Given the description of an element on the screen output the (x, y) to click on. 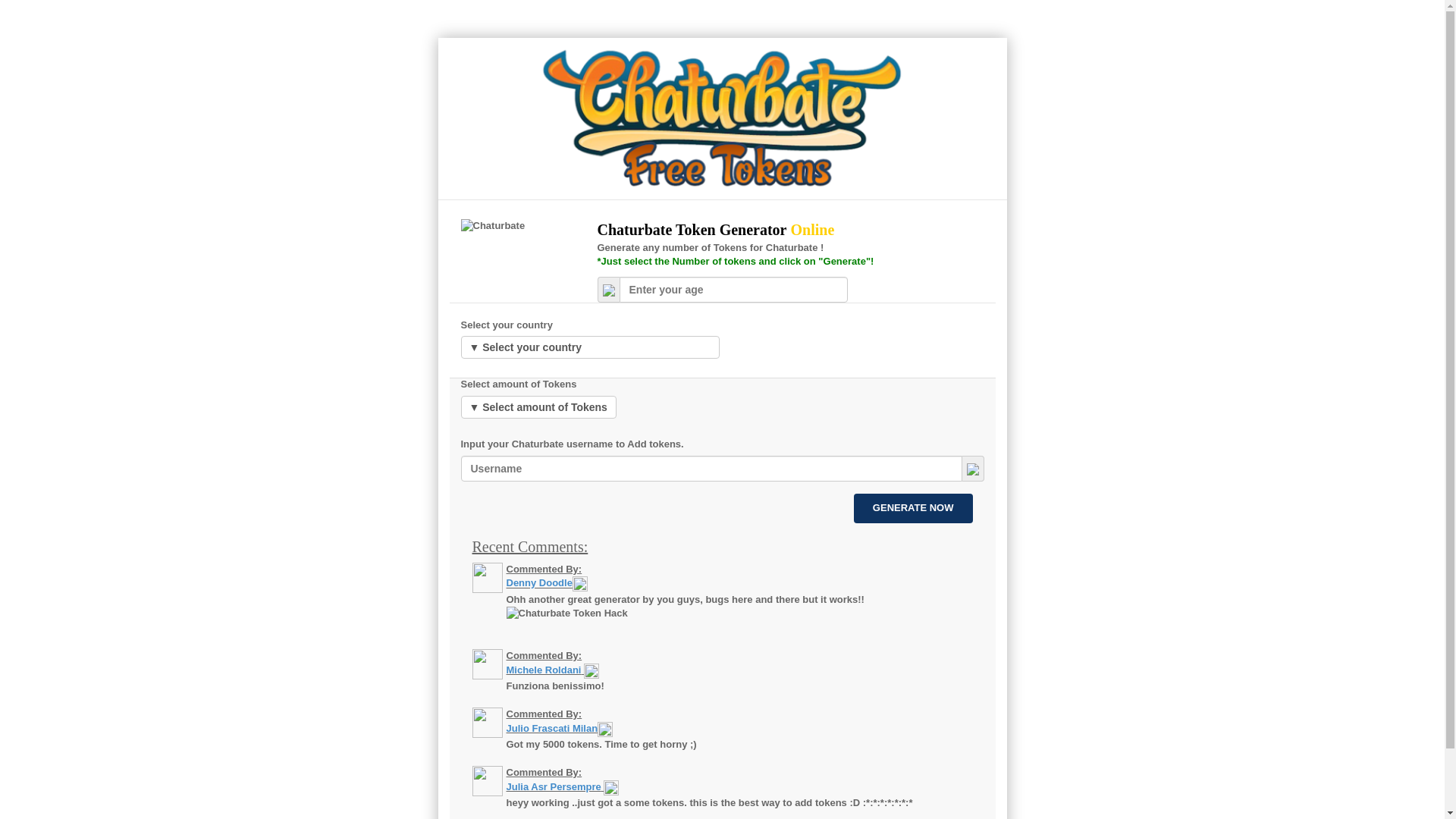
Julio Frascati Milan Element type: text (552, 728)
Julia Asr Persempre Element type: text (553, 786)
Denny Doodle Element type: text (539, 583)
Michele Roldani Element type: text (543, 669)
GENERATE NOW Element type: text (912, 508)
